Given the description of an element on the screen output the (x, y) to click on. 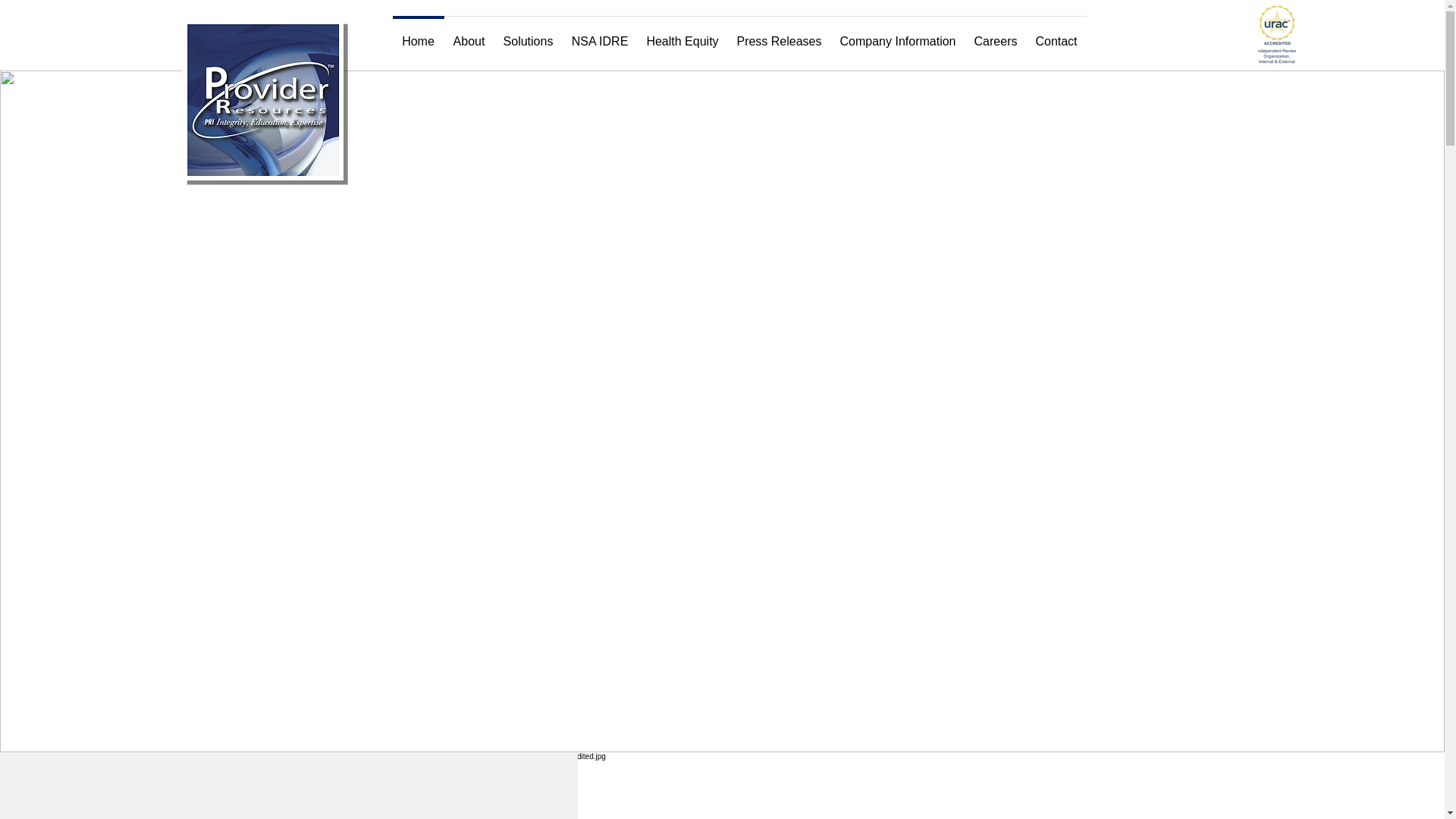
Press Releases (779, 34)
Careers (994, 34)
Company Information (898, 34)
Solutions (528, 34)
Contact (1056, 34)
NSA IDRE (599, 34)
About (469, 34)
Health Equity (681, 34)
Home (418, 34)
